Given the description of an element on the screen output the (x, y) to click on. 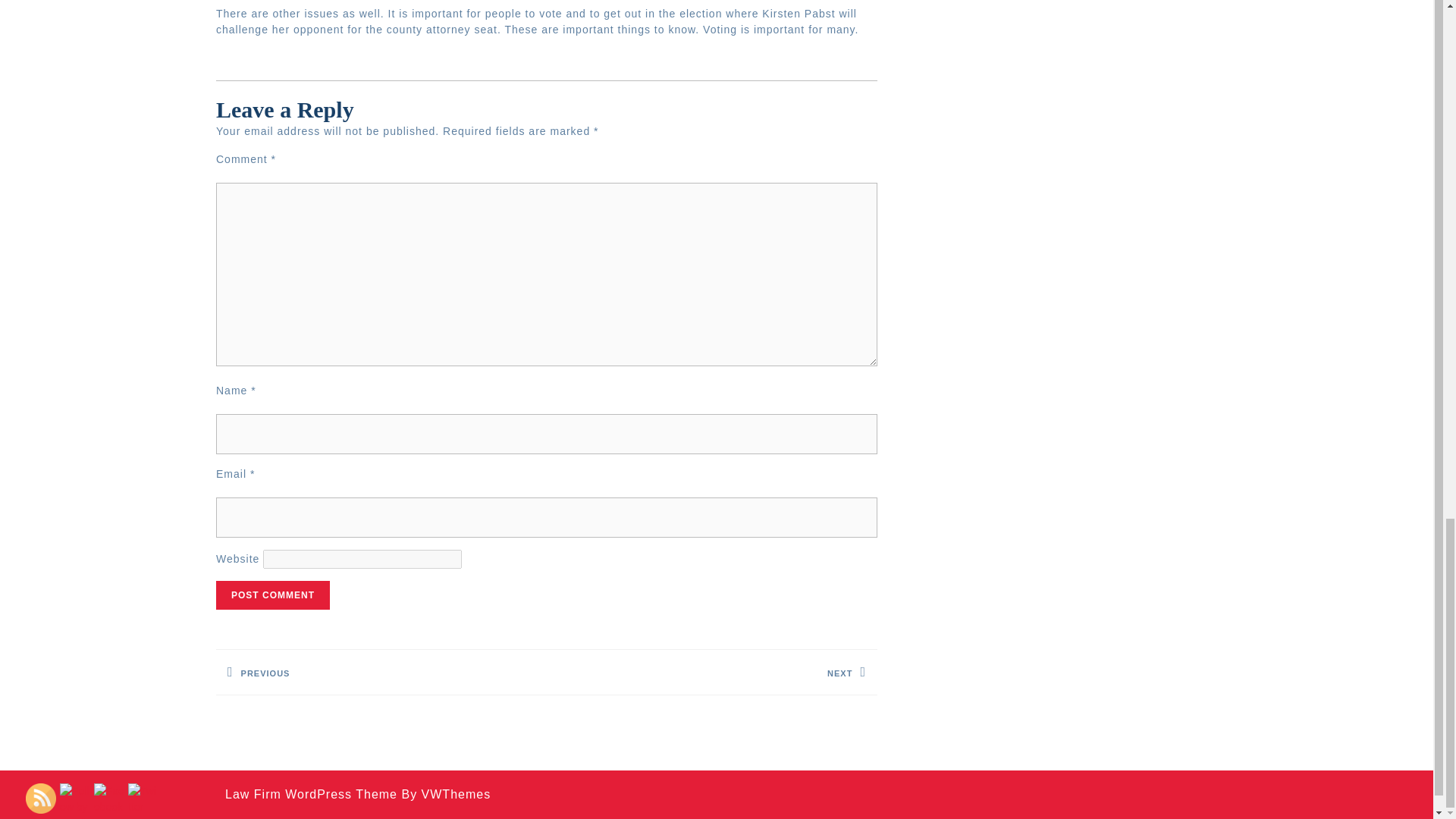
Facebook (108, 798)
Post Comment (272, 594)
RSS (41, 798)
Post Comment (381, 671)
Law Firm WordPress Theme (712, 671)
